Given the description of an element on the screen output the (x, y) to click on. 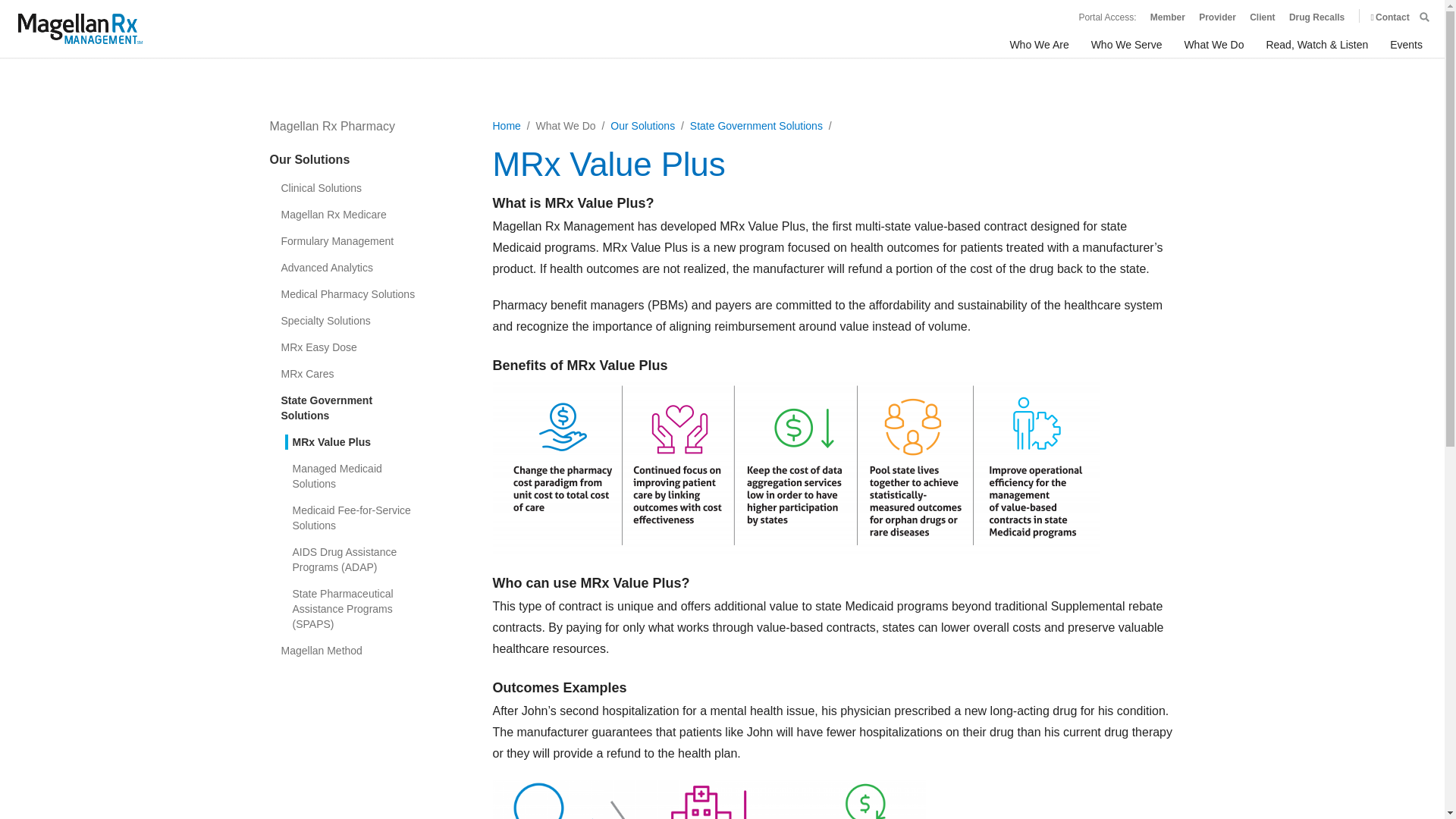
Search (1424, 17)
